Given the description of an element on the screen output the (x, y) to click on. 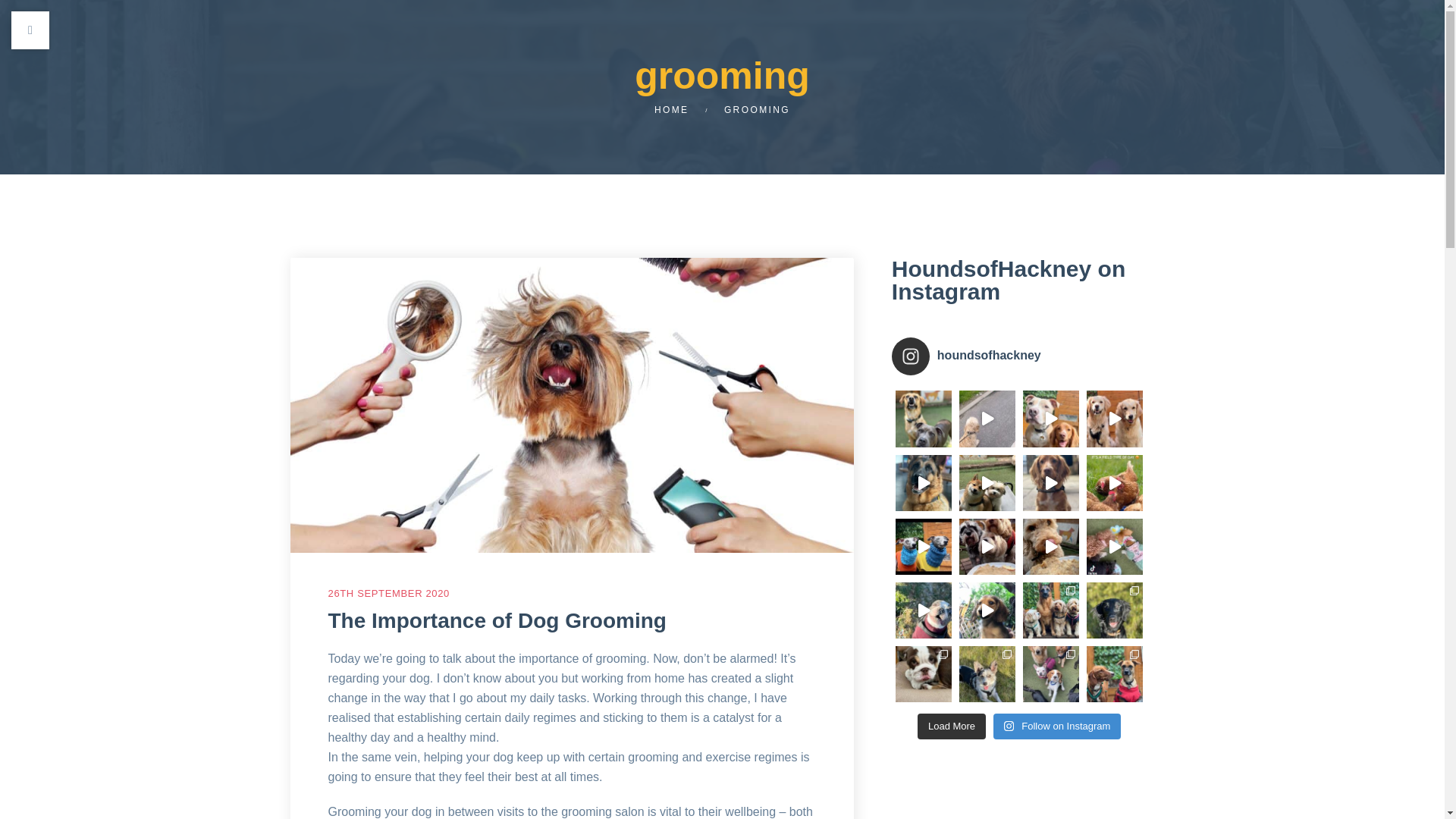
26TH SEPTEMBER 2020 (387, 593)
HOME (670, 109)
houndsofhackney (1019, 356)
The Importance of Dog Grooming (496, 620)
